Given the description of an element on the screen output the (x, y) to click on. 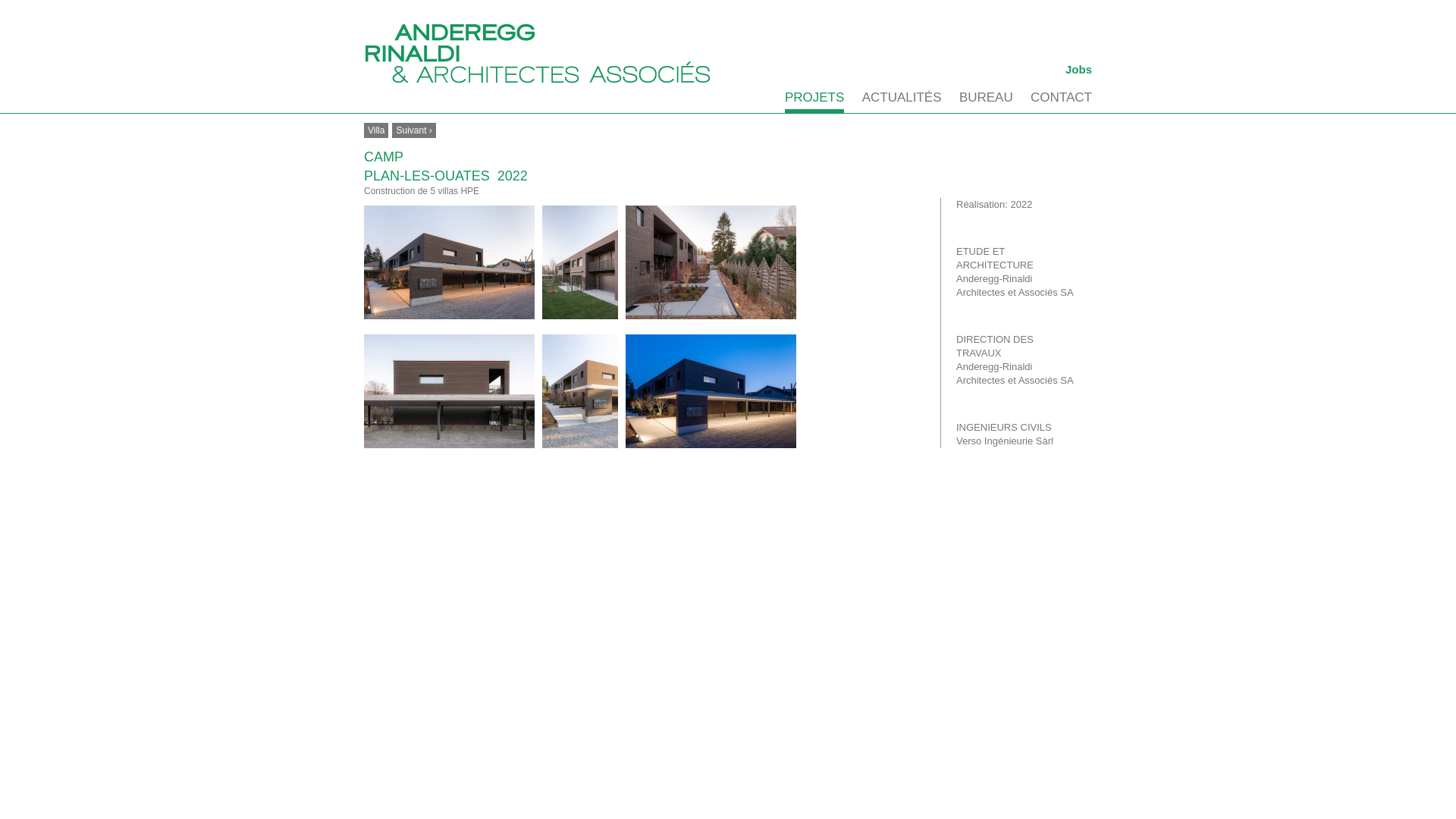
PROJETS Element type: text (814, 101)
BUREAU Element type: text (986, 99)
CONTACT Element type: text (1061, 99)
Villa Element type: text (376, 130)
Jobs Element type: text (1078, 68)
Accueil Element type: hover (538, 53)
